Given the description of an element on the screen output the (x, y) to click on. 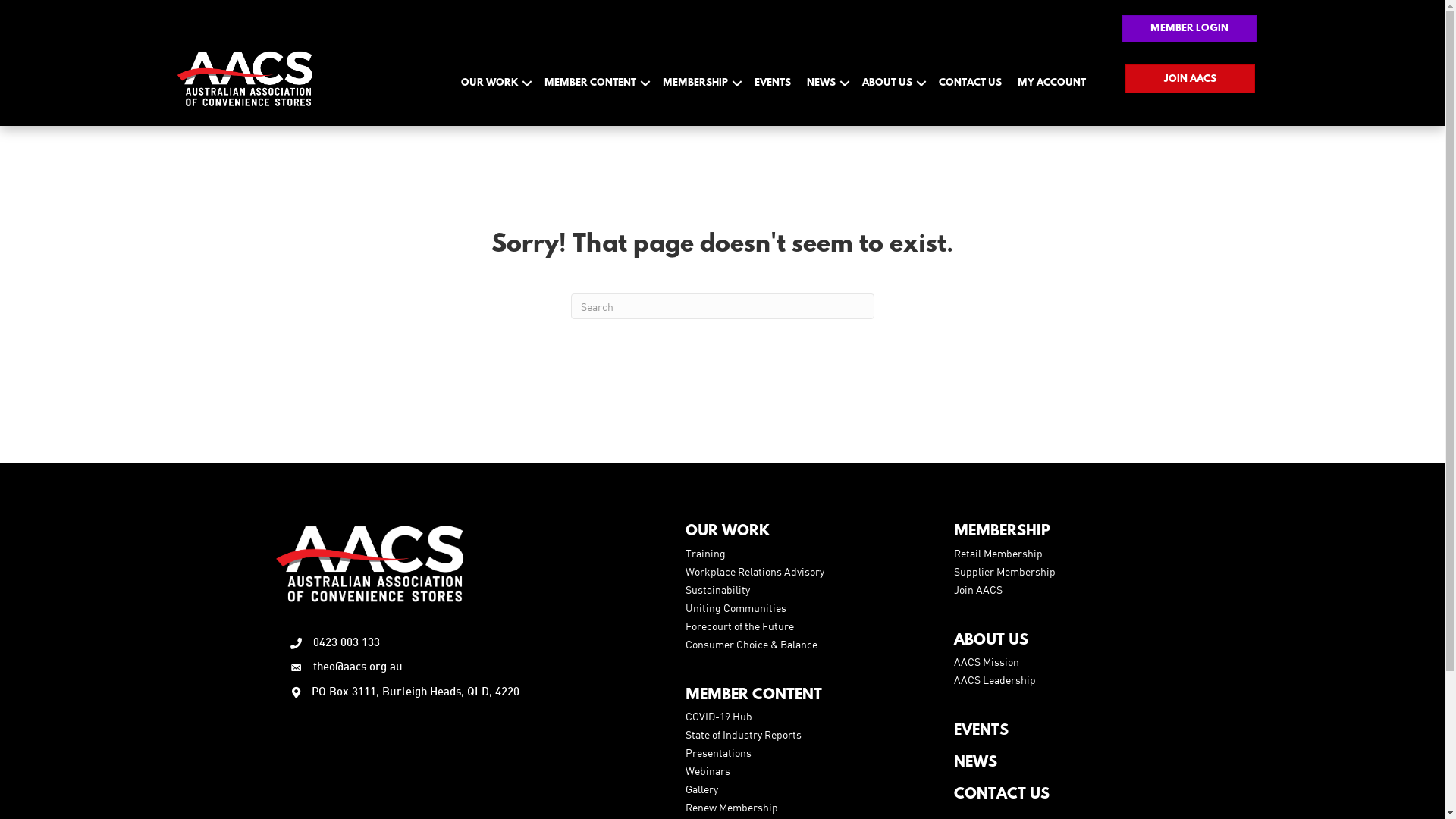
Retail Membership Element type: text (997, 552)
Type and press Enter to search. Element type: hover (721, 306)
JOIN AACS Element type: text (1190, 78)
AACS Australian WHITE-no border-01 Element type: hover (243, 78)
CONTACT US Element type: text (970, 83)
NEWS Element type: text (826, 83)
Training Element type: text (705, 552)
MY ACCOUNT Element type: text (1051, 83)
MEMBERSHIP Element type: text (700, 83)
EVENTS Element type: text (980, 730)
Workplace Relations Advisory Element type: text (754, 570)
OUR WORK Element type: text (727, 531)
Renew Membership Element type: text (731, 806)
Consumer Choice & Balance Element type: text (751, 643)
0423 003 133 Element type: text (345, 643)
MEMBER LOGIN Element type: text (1189, 28)
AACS Leadership Element type: text (994, 679)
Gallery Element type: text (701, 788)
Sustainability Element type: text (717, 589)
COVID-19 Hub Element type: text (718, 715)
ABOUT US Element type: text (892, 83)
AACS Australian WHITE-no border-01 Element type: hover (369, 563)
NEWS Element type: text (975, 762)
MEMBERSHIP Element type: text (1001, 531)
Webinars Element type: text (707, 770)
Uniting Communities Element type: text (735, 607)
theo@aacs.org.au Element type: text (356, 667)
Join AACS Element type: text (977, 589)
Presentations Element type: text (718, 752)
EVENTS Element type: text (772, 83)
AACS Mission Element type: text (986, 661)
MEMBER CONTENT Element type: text (595, 83)
OUR WORK Element type: text (494, 83)
Supplier Membership Element type: text (1004, 570)
ABOUT US Element type: text (990, 640)
State of Industry Reports Element type: text (743, 734)
Forecourt of the Future Element type: text (739, 625)
CONTACT US Element type: text (1001, 794)
